Given the description of an element on the screen output the (x, y) to click on. 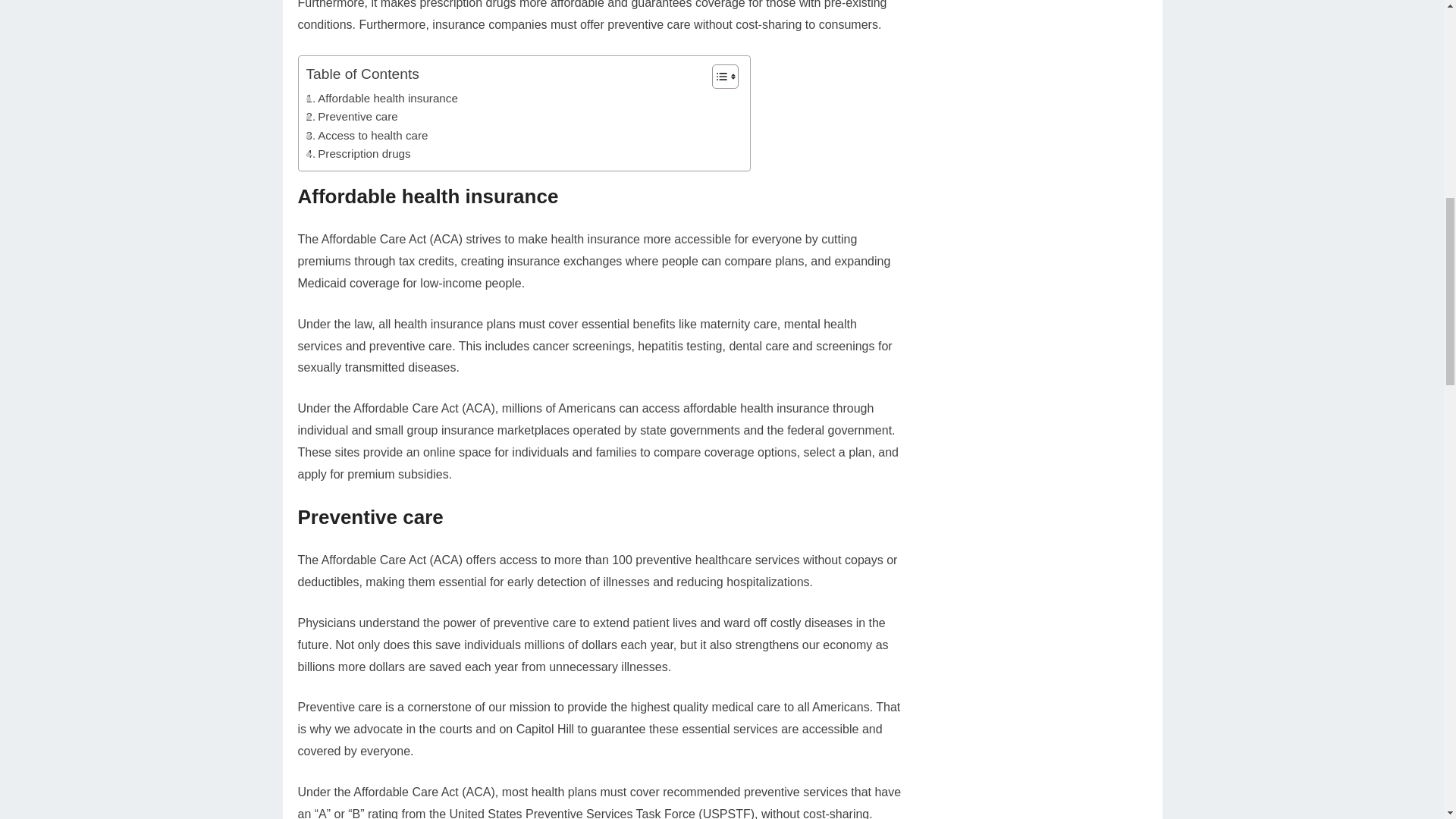
Affordable health insurance (381, 98)
Preventive care (351, 116)
Prescription drugs (357, 153)
Affordable health insurance (381, 98)
Access to health care (366, 135)
Prescription drugs (357, 153)
Access to health care (366, 135)
Preventive care (351, 116)
